Given the description of an element on the screen output the (x, y) to click on. 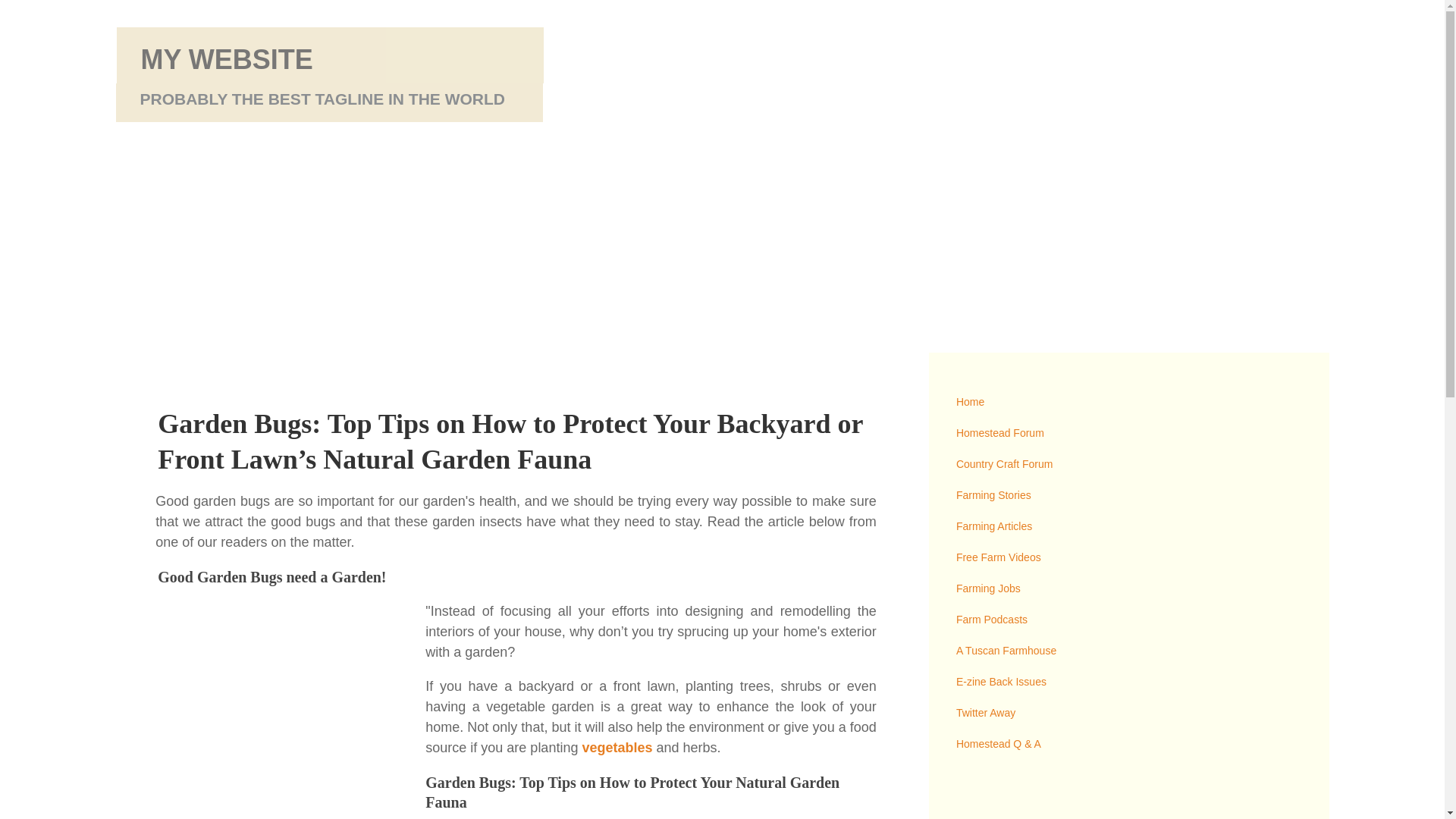
MY WEBSITE (227, 59)
Country Craft Forum (1128, 463)
Farming Articles (1128, 526)
Farming Jobs (1128, 588)
E-zine Back Issues (1128, 681)
Farm Podcasts (1128, 619)
Free Farm Videos (1128, 557)
Homestead Forum (1128, 432)
Home (1128, 401)
Farming Stories (1128, 495)
Twitter Away (1128, 712)
A Tuscan Farmhouse (1128, 650)
vegetables (616, 747)
